Given the description of an element on the screen output the (x, y) to click on. 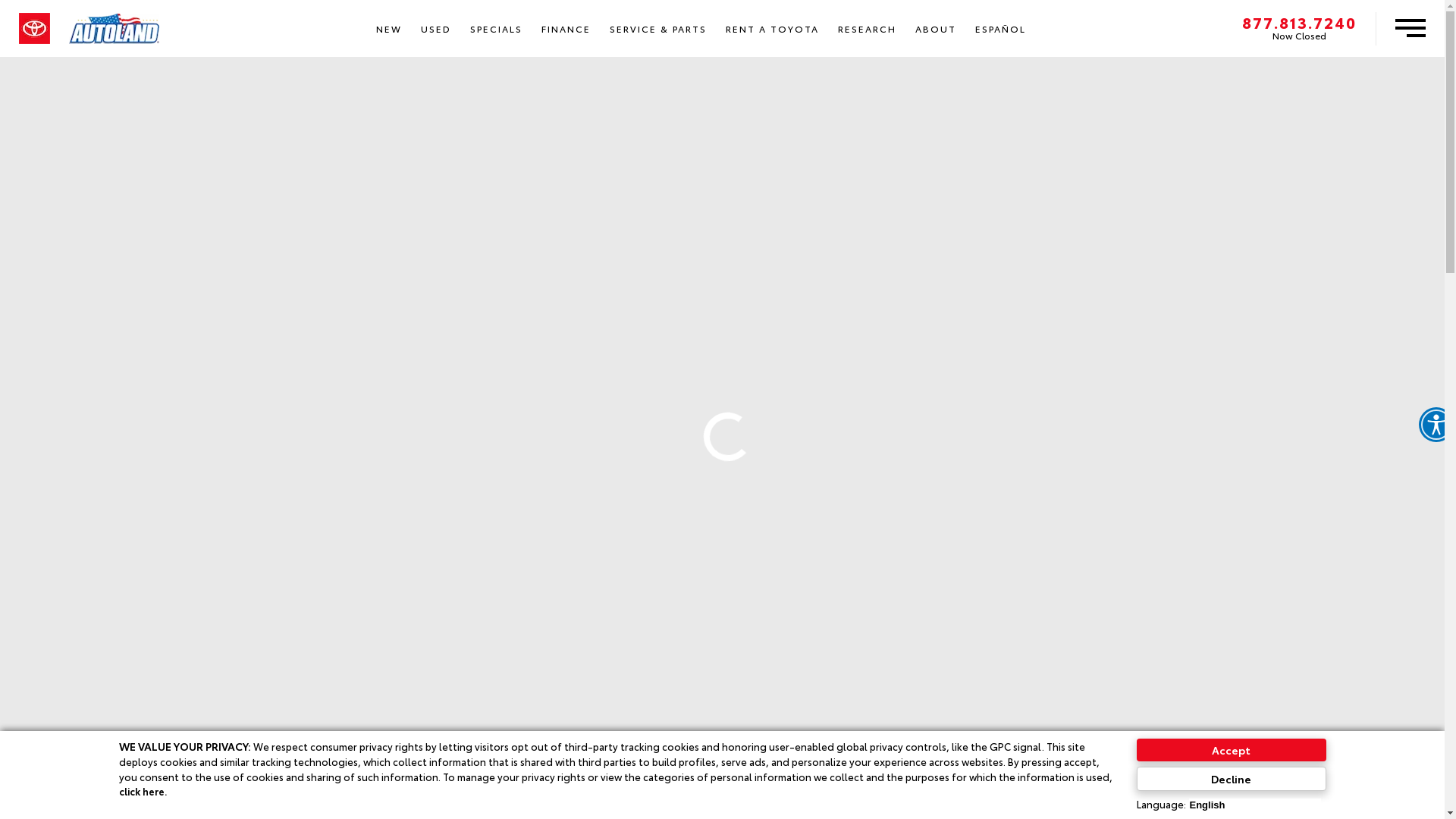
Autoland Toyota Element type: hover (114, 28)
Play Video Element type: text (857, 534)
RENT A TOYOTA Element type: text (771, 28)
RESEARCH Element type: text (866, 28)
USED Element type: text (435, 28)
Accept Element type: text (1230, 749)
NEW Element type: text (388, 28)
ABOUT Element type: text (935, 28)
click here. Element type: text (142, 790)
Toyota Element type: hover (34, 27)
877.813.7240 Element type: text (1299, 21)
SPECIALS Element type: text (495, 28)
Now Closed Element type: text (1299, 33)
SERVICE & PARTS Element type: text (657, 28)
Decline Element type: text (1230, 778)
FINANCE Element type: text (565, 28)
